Given the description of an element on the screen output the (x, y) to click on. 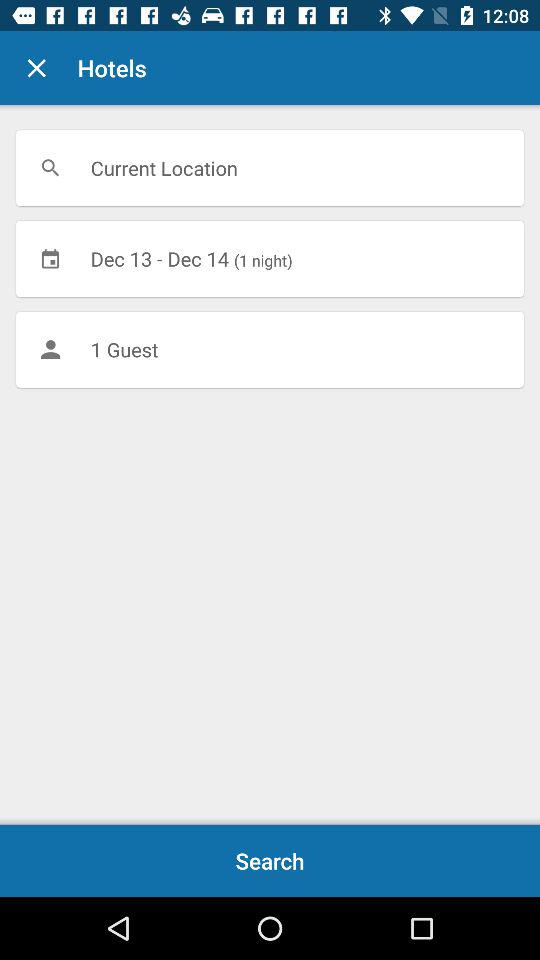
jump to current location icon (269, 168)
